Given the description of an element on the screen output the (x, y) to click on. 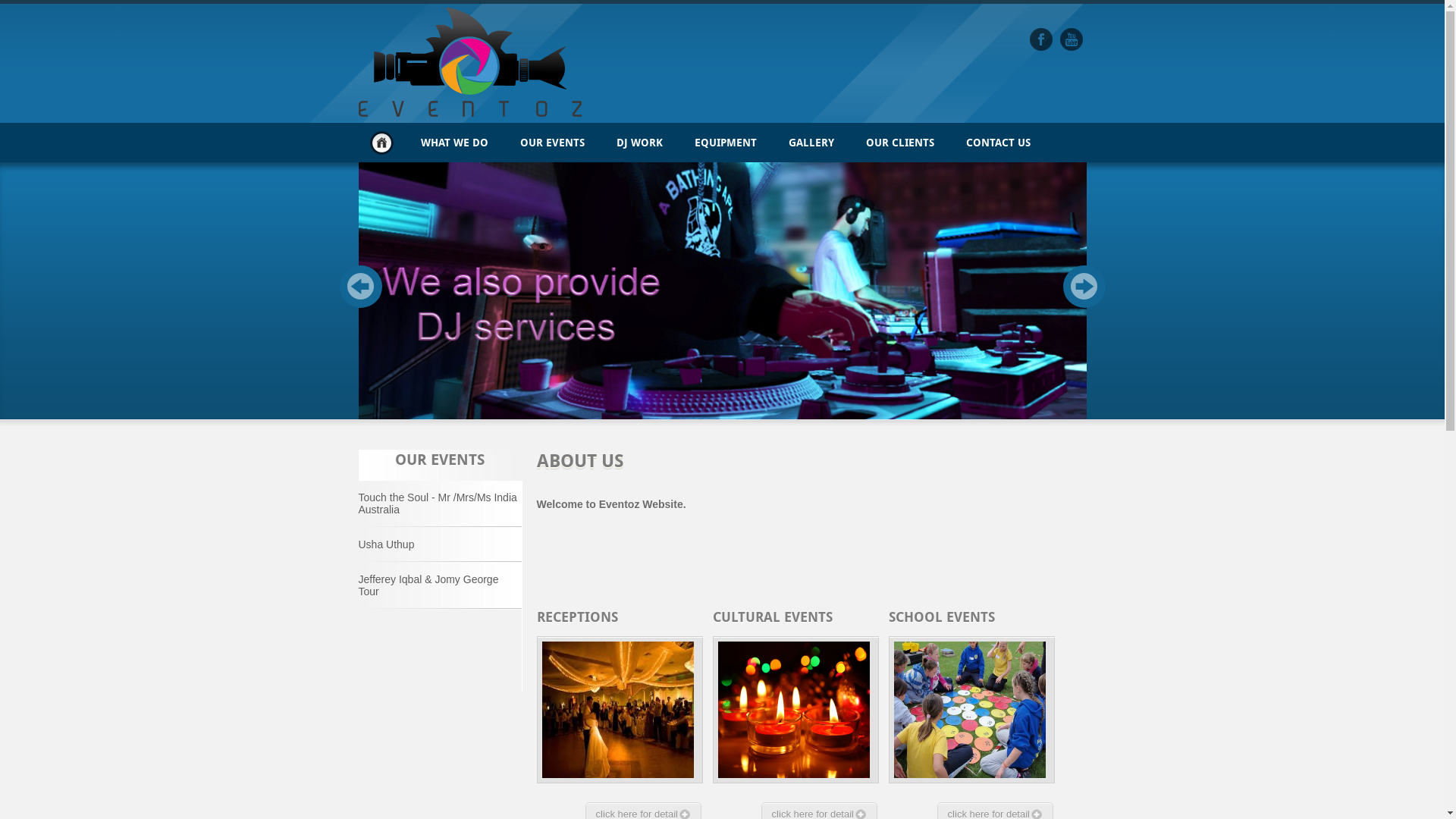
Prev Element type: text (360, 286)
OUR EVENTS Element type: text (551, 142)
Next Element type: text (1084, 286)
EQUIPMENT Element type: text (724, 142)
Usha Uthup Element type: text (438, 544)
Even toz Element type: hover (1040, 39)
Touch the Soul - Mr /Mrs/Ms India Australia Element type: text (438, 503)
DJ WORK Element type: text (639, 142)
WHAT WE DO Element type: text (454, 142)
Even toz Element type: hover (1071, 39)
GALLERY Element type: text (810, 142)
Jefferey Iqbal & Jomy George Tour Element type: text (438, 585)
CONTACT US Element type: text (997, 142)
HOME Element type: text (380, 142)
OUR CLIENTS Element type: text (899, 142)
